Given the description of an element on the screen output the (x, y) to click on. 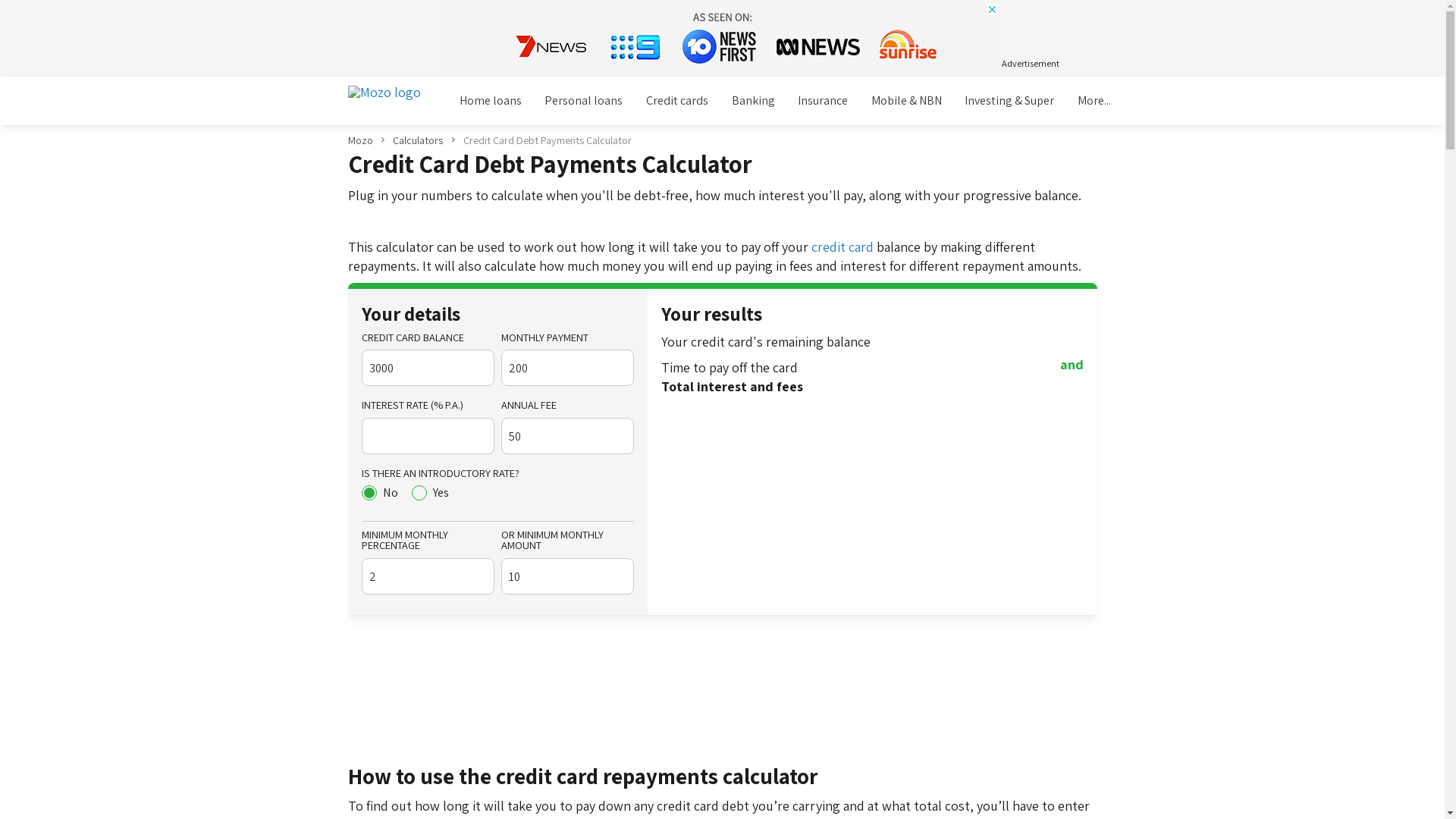
More... Element type: text (1093, 100)
3rd party ad content Element type: hover (721, 37)
Mobile & NBN Element type: text (905, 100)
Calculators Element type: text (417, 139)
Banking Element type: text (752, 100)
Credit cards Element type: text (676, 100)
Insurance Element type: text (822, 100)
credit card Element type: text (842, 246)
Investing & Super Element type: text (1009, 100)
Home loans Element type: text (489, 100)
Mozo Element type: text (359, 139)
Personal loans Element type: text (583, 100)
